Given the description of an element on the screen output the (x, y) to click on. 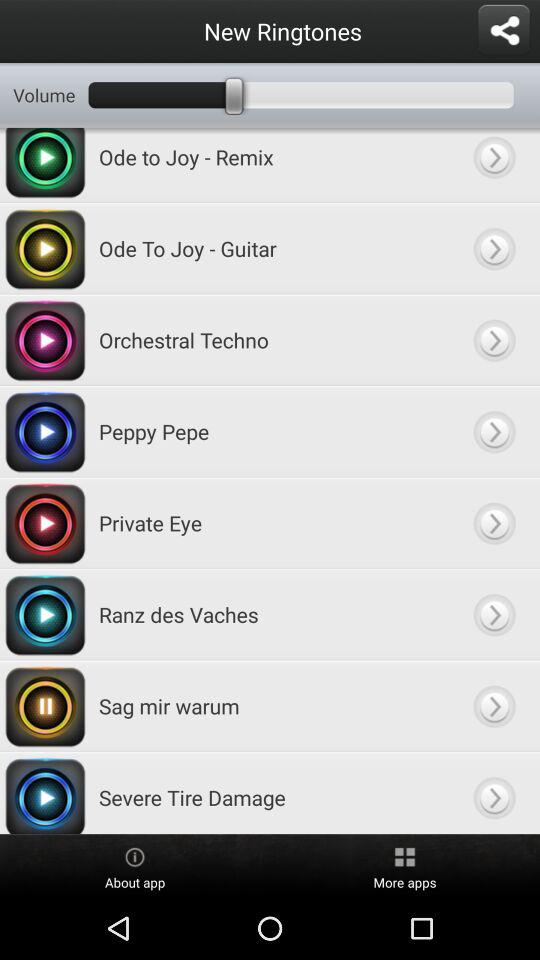
go to play song (494, 614)
